Given the description of an element on the screen output the (x, y) to click on. 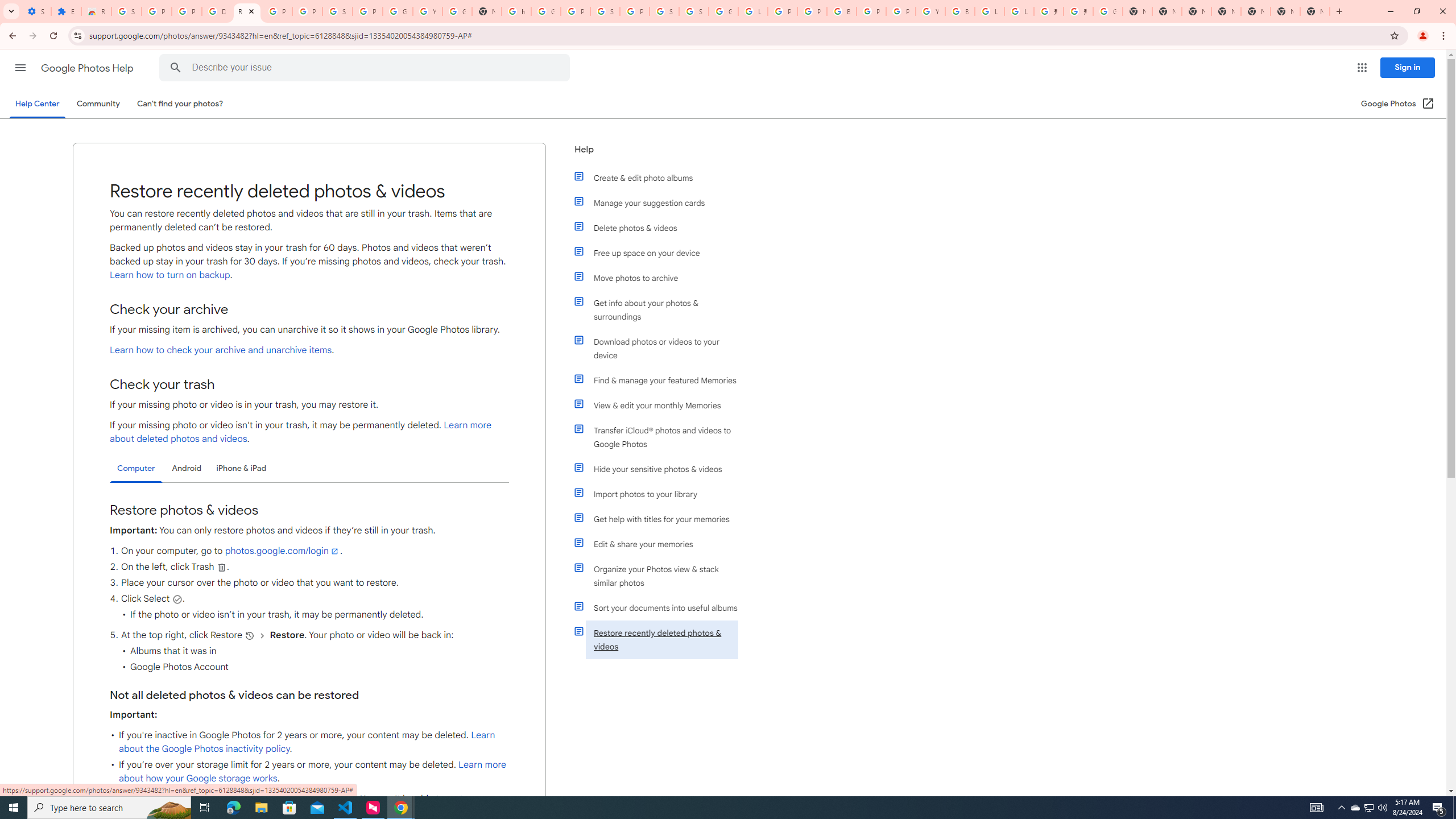
Main menu (20, 67)
Organize your Photos view & stack similar photos (661, 575)
Computer (136, 469)
New Tab (1226, 11)
YouTube (426, 11)
Extensions (65, 11)
iPhone & iPad (240, 468)
Select (176, 598)
Can't find your photos? (180, 103)
Restore recently deleted photos & videos (661, 639)
